Given the description of an element on the screen output the (x, y) to click on. 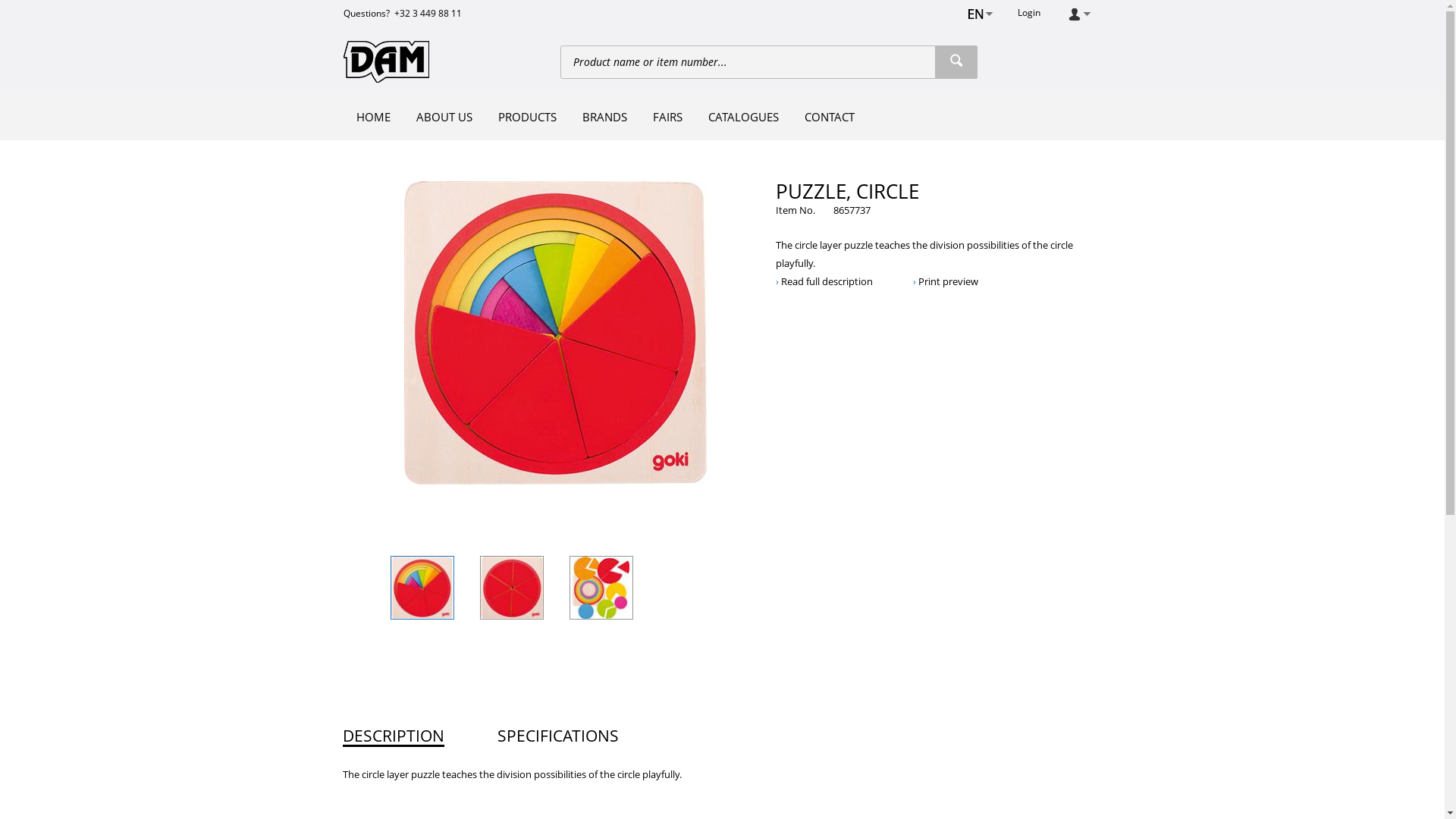
DESCRIPTION Element type: text (393, 735)
ABOUT US Element type: text (444, 116)
FAIRS Element type: text (667, 116)
English Element type: hover (974, 13)
SPECIFICATIONS Element type: text (557, 735)
CONTACT Element type: text (829, 116)
PRODUCTS Element type: text (527, 116)
Puzzle, Circle Element type: hover (555, 332)
Search products Element type: hover (956, 61)
Login Element type: text (1028, 12)
Puzzle, Circle Element type: hover (511, 587)
BRANDS Element type: text (603, 116)
HOME Element type: text (372, 116)
CATALOGUES Element type: text (742, 116)
Puzzle, Circle Element type: hover (600, 587)
Read full description Element type: text (823, 281)
Print preview Element type: text (945, 281)
Puzzle, Circle Element type: hover (421, 587)
